Given the description of an element on the screen output the (x, y) to click on. 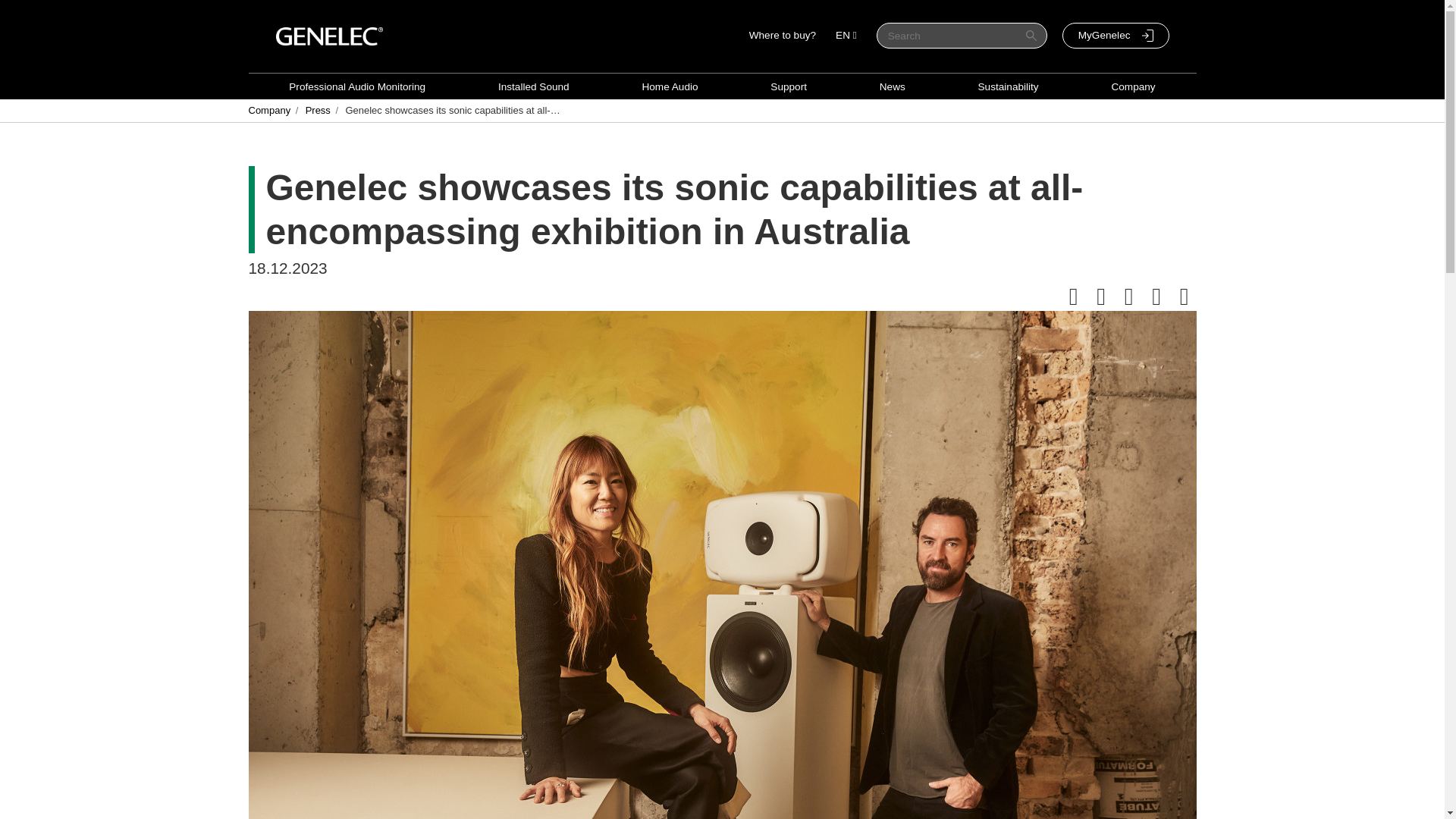
Home Audio (669, 86)
News (892, 86)
Press (317, 110)
EN (846, 35)
Press (317, 110)
Sustainability (1008, 86)
Company (269, 110)
Go to Genelec.com (329, 36)
Support (788, 86)
